Given the description of an element on the screen output the (x, y) to click on. 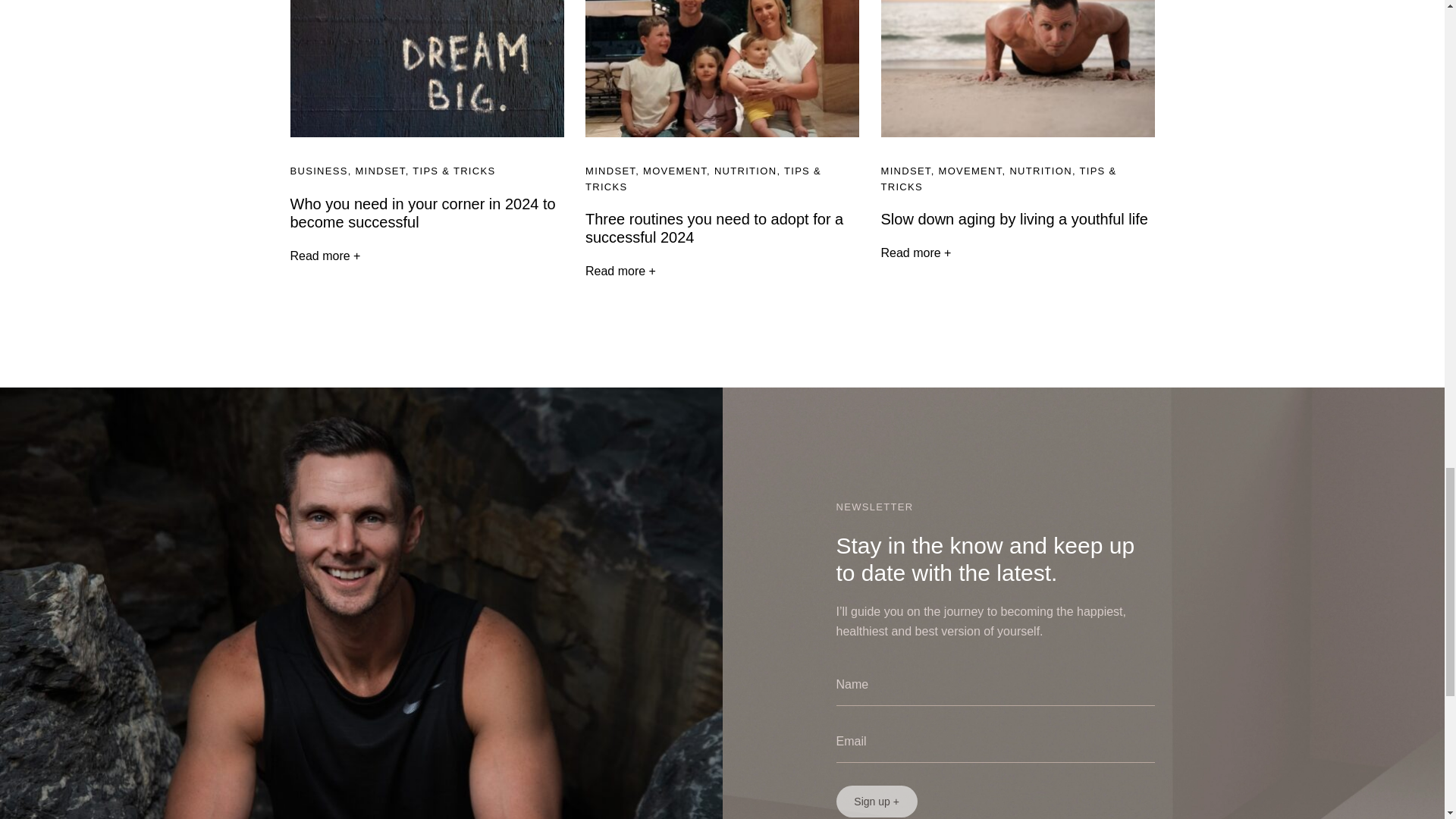
Slow down aging by living a youthful life (1014, 218)
MINDSET (379, 170)
MINDSET (609, 170)
NUTRITION (1040, 170)
Who you need in your corner in 2024 to become successful (421, 212)
BUSINESS (318, 170)
MINDSET (905, 170)
MOVEMENT (674, 170)
Three routines you need to adopt for a successful 2024 (714, 227)
MOVEMENT (971, 170)
NUTRITION (745, 170)
